Given the description of an element on the screen output the (x, y) to click on. 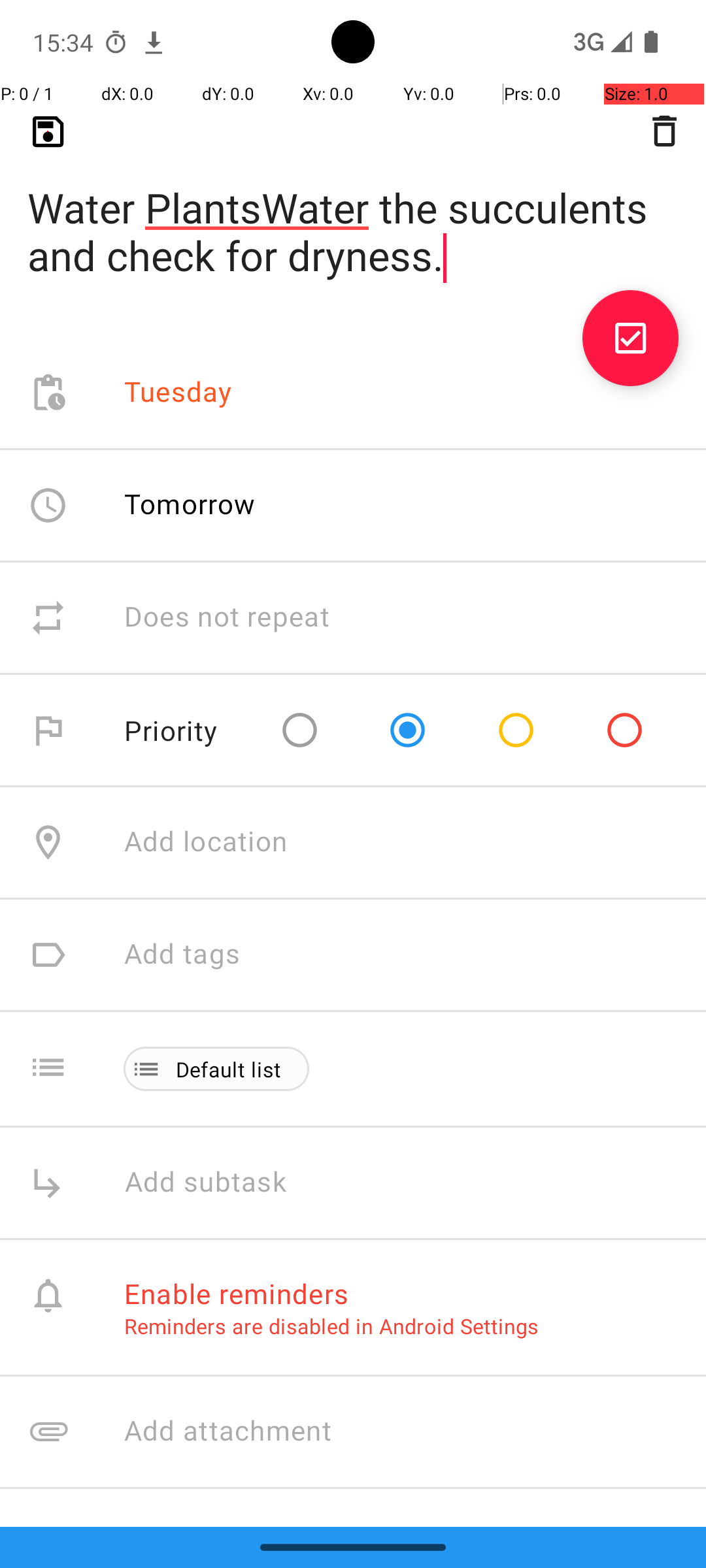
Water PlantsWater the succulents and check for dryness. Element type: android.widget.EditText (353, 210)
